Given the description of an element on the screen output the (x, y) to click on. 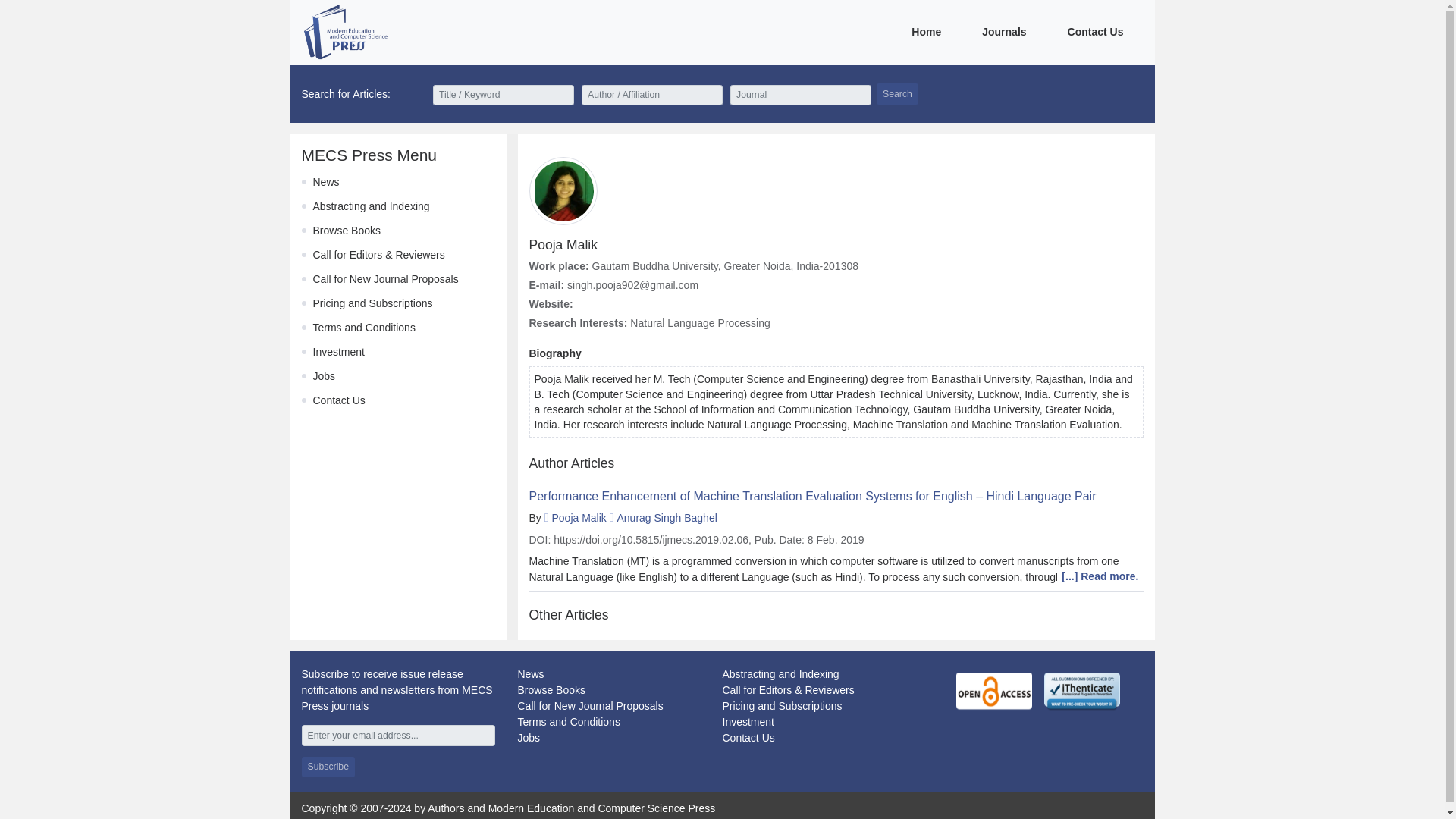
Contact Us (339, 399)
Subscribe (328, 766)
Pricing and Subscriptions (781, 705)
Investment (747, 721)
Call for New Journal Proposals (589, 705)
News (529, 674)
News (326, 182)
Browse Books (550, 689)
Jobs (323, 376)
Call for New Journal Proposals (385, 278)
